Given the description of an element on the screen output the (x, y) to click on. 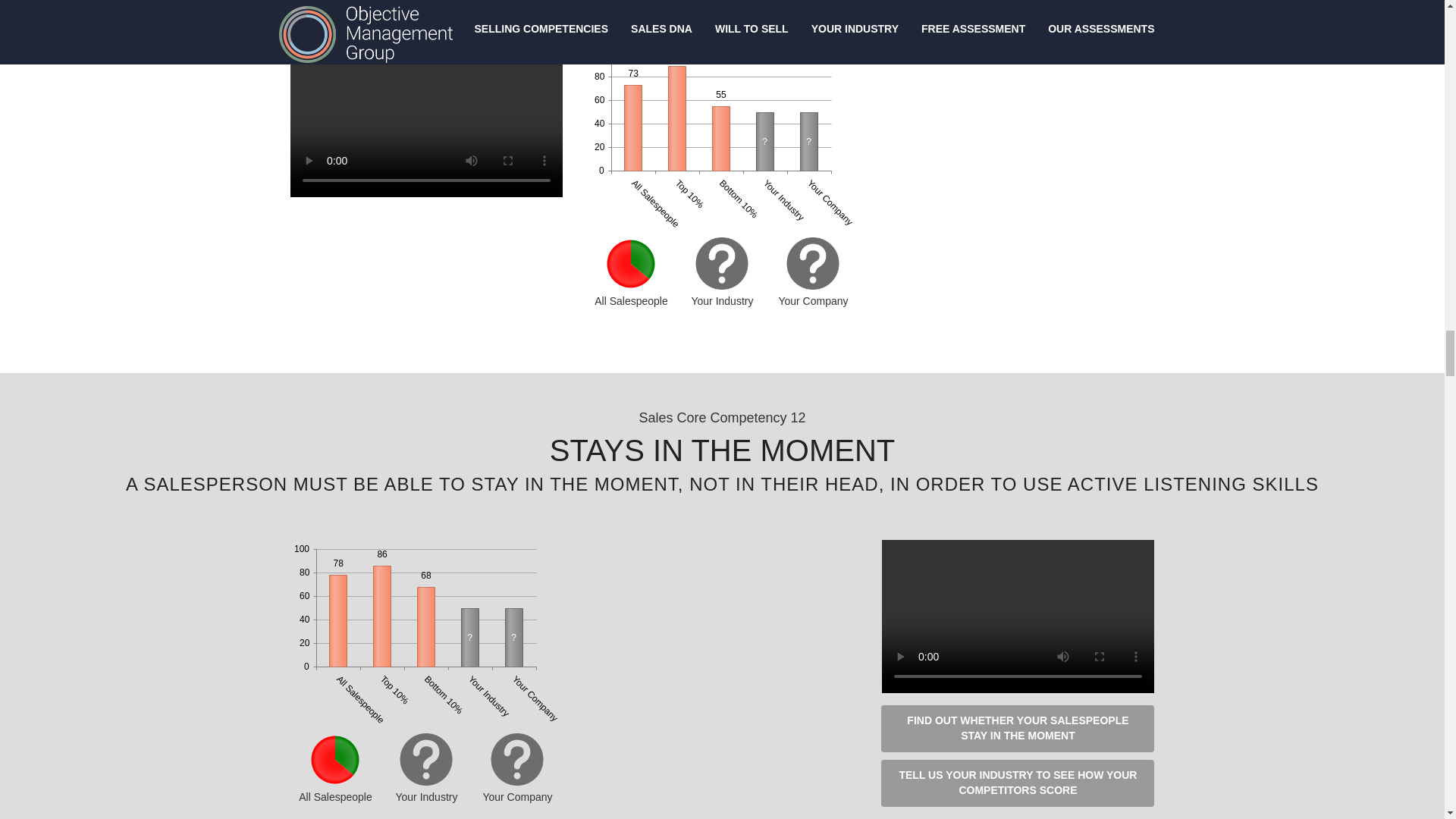
TELL US YOUR INDUSTRY TO SEE HOW YOUR COMPETITORS SCORE (1017, 783)
FIND OUT WHETHER YOUR SALESPEOPLE STAY IN THE MOMENT (1017, 728)
